Given the description of an element on the screen output the (x, y) to click on. 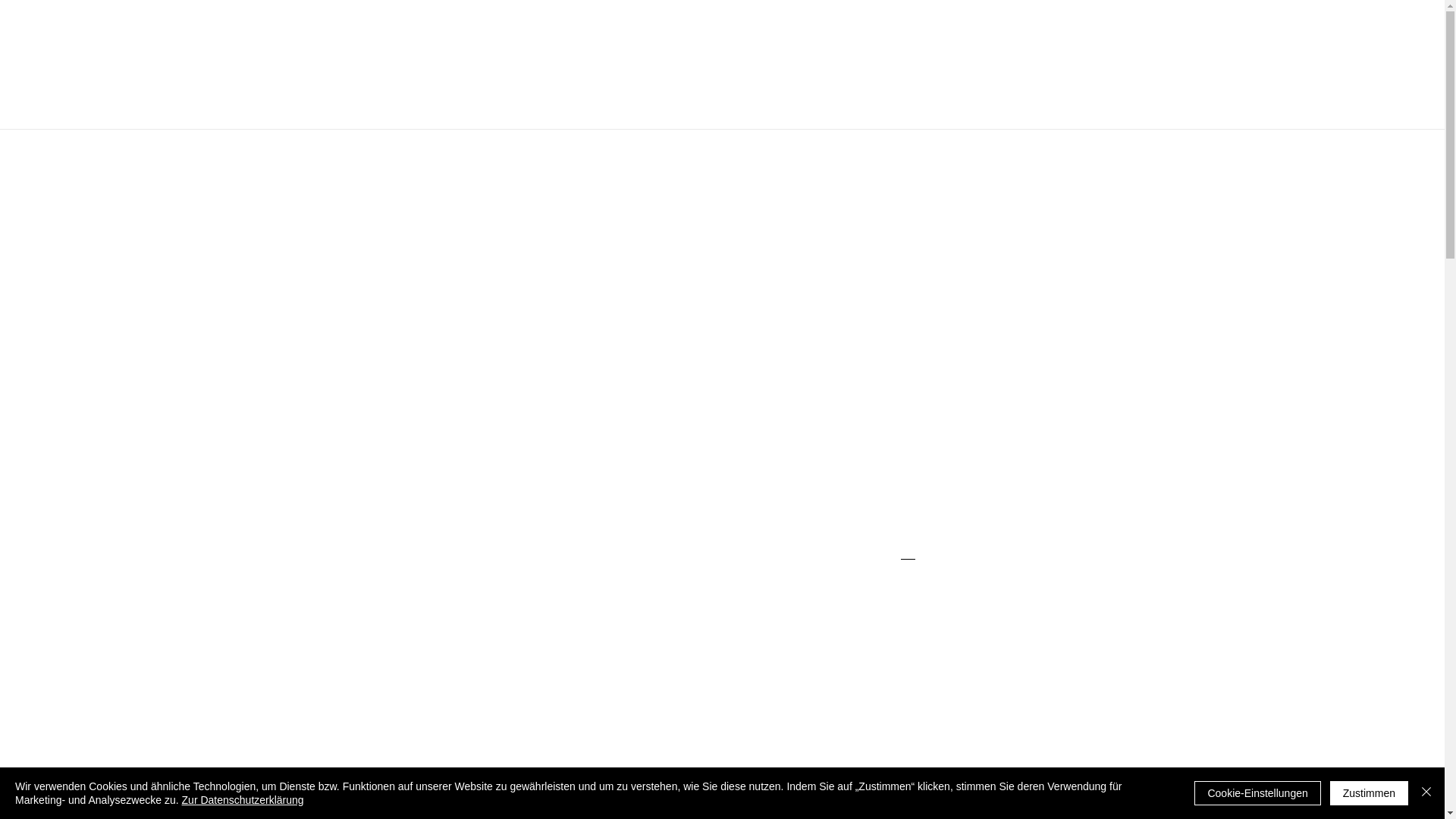
Cookie-Einstellungen Element type: text (1257, 793)
Zustimmen Element type: text (1369, 793)
